Given the description of an element on the screen output the (x, y) to click on. 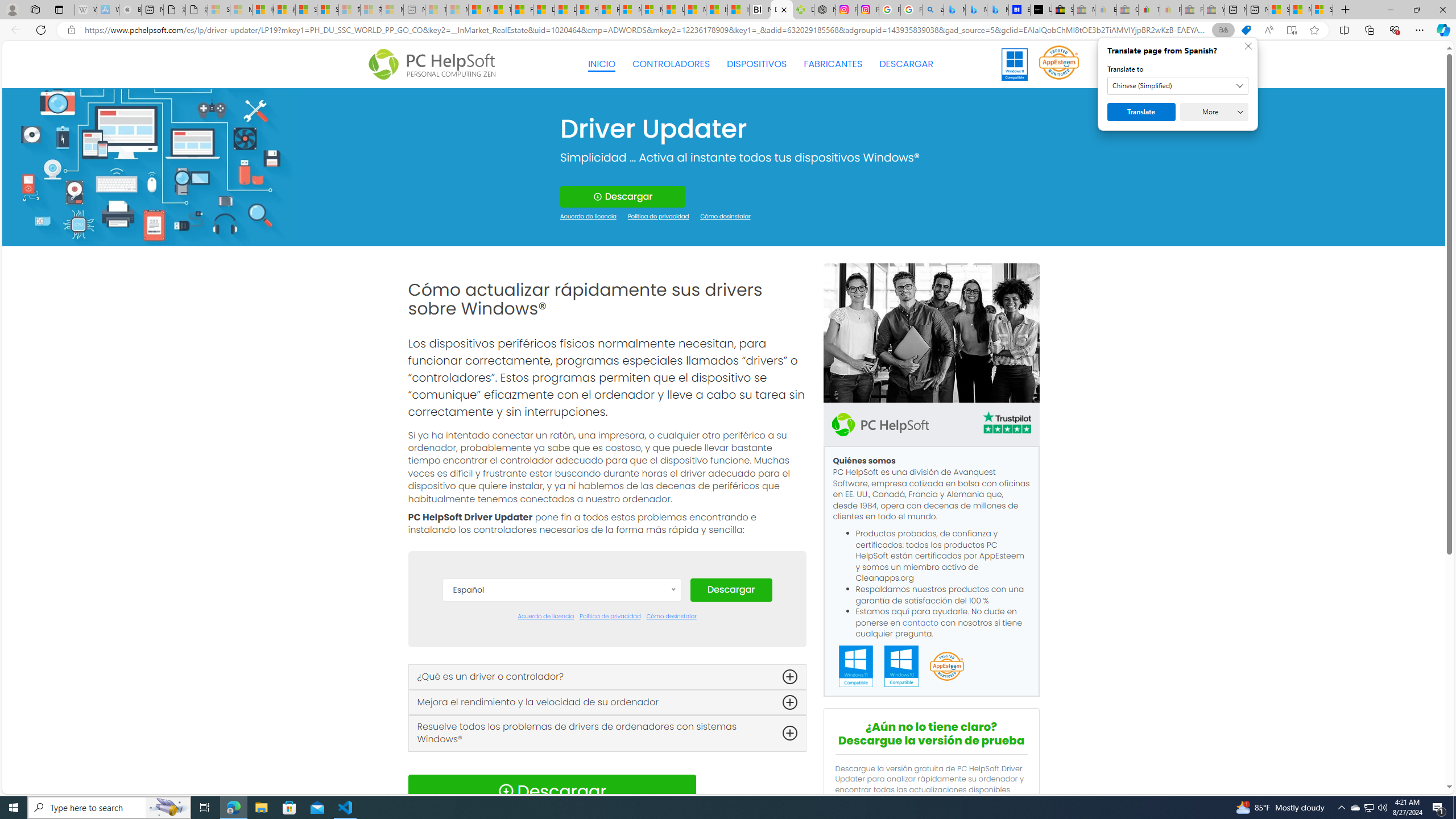
DISPOSITIVOS (756, 64)
TrustPilot (1006, 424)
Logo Personal Computing (435, 64)
Nederlands (561, 763)
Deutsch (561, 678)
English (561, 695)
FABRICANTES (833, 64)
TrustPilot (1006, 422)
Threats and offensive language policy | eBay (1149, 9)
